Given the description of an element on the screen output the (x, y) to click on. 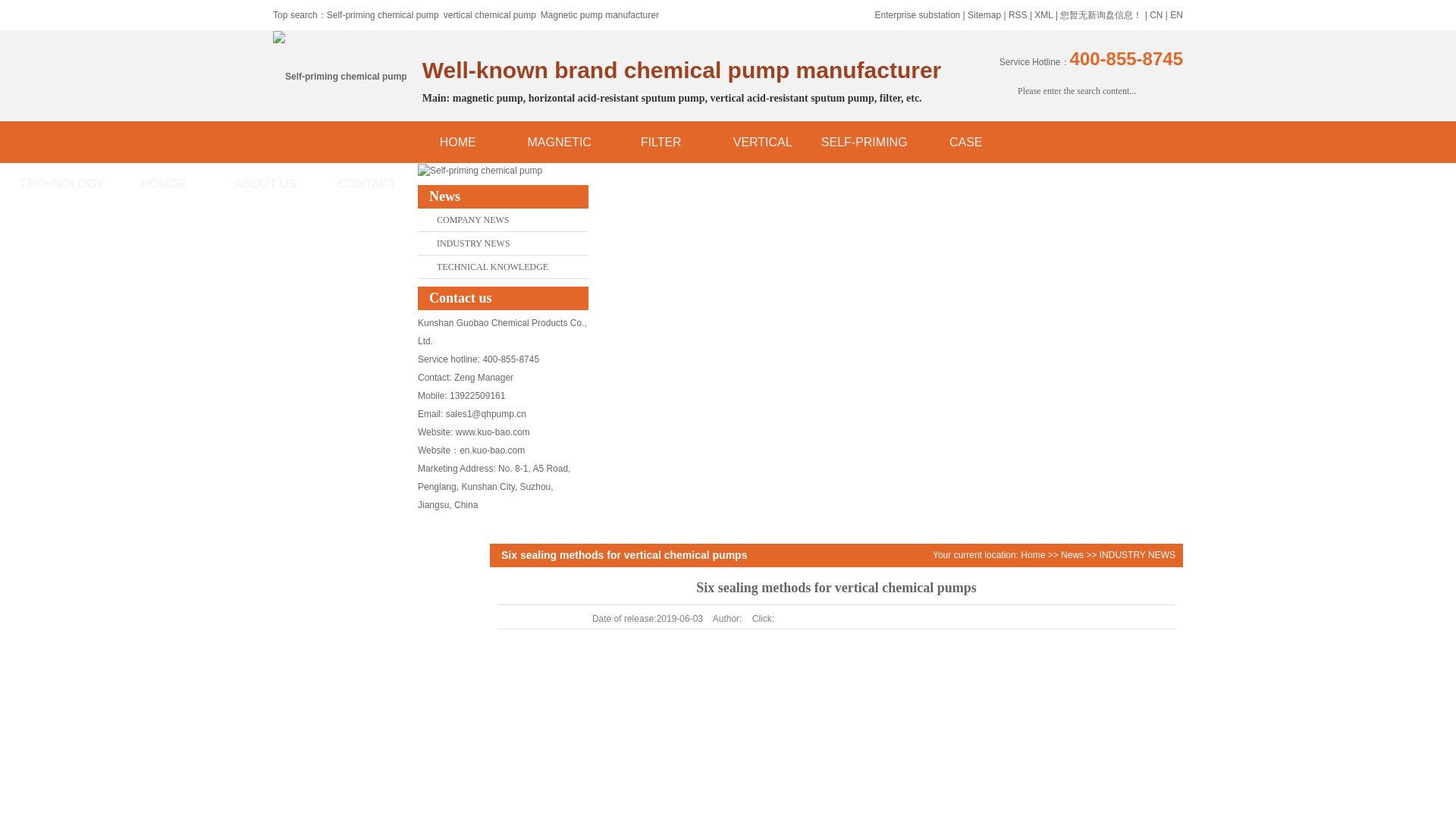
Please enter the search content... (1078, 90)
CASE (965, 141)
SELF-PRIMING (864, 141)
TECHNOLOGY (61, 183)
vertical chemical pump (489, 14)
INDUSTRY NEWS (1136, 554)
MAGNETIC (559, 141)
CN (1155, 14)
Magnetic pump manufacturer (599, 14)
ABOUT US (265, 183)
